Given the description of an element on the screen output the (x, y) to click on. 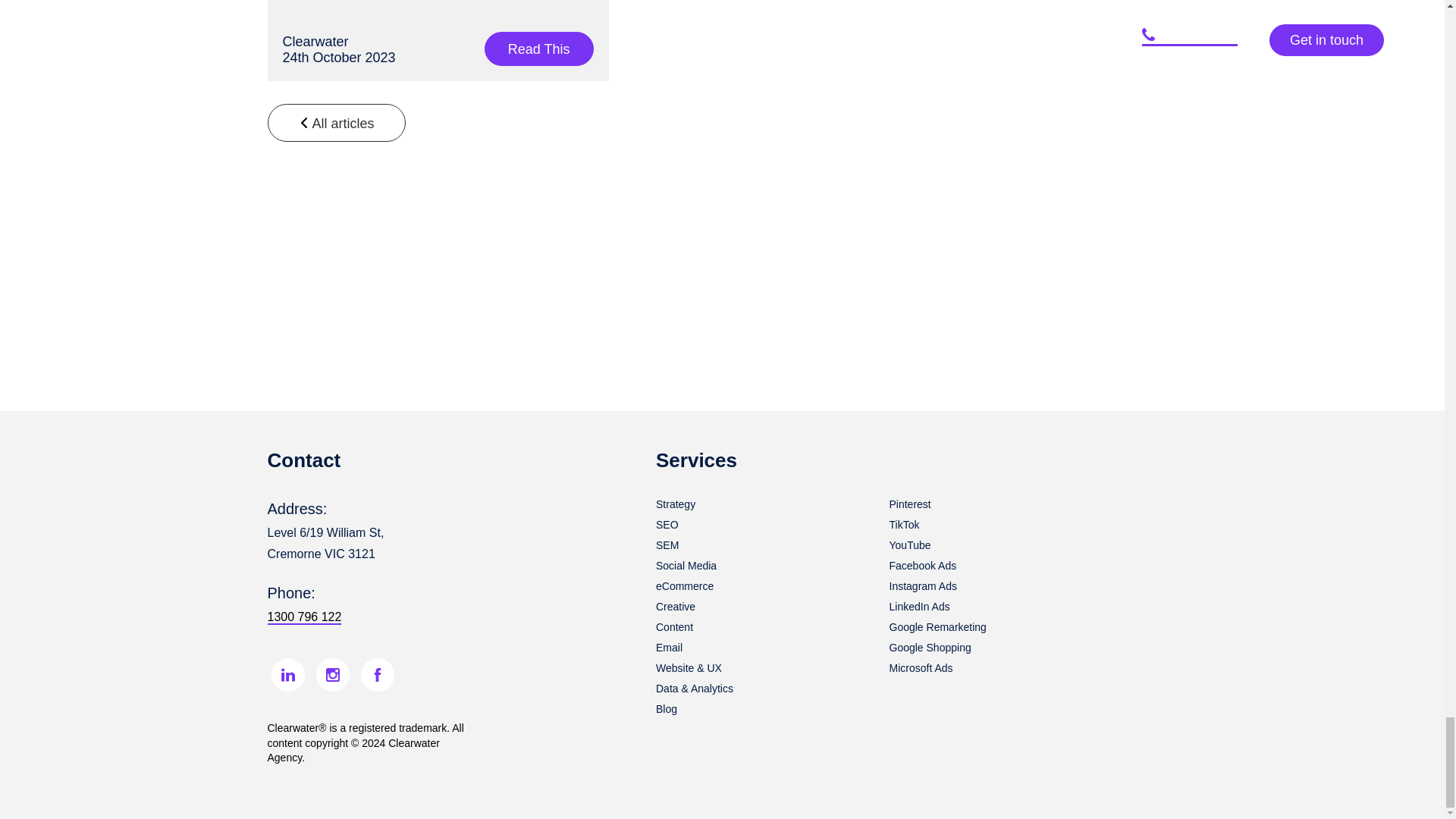
Email (669, 647)
Facebook Ads (922, 565)
Creative (675, 606)
TikTok (903, 524)
Social Media (686, 565)
Pinterest (909, 503)
Read This (539, 48)
Strategy (675, 503)
1300 796 122 (303, 617)
eCommerce (684, 585)
All articles (335, 122)
Blog (666, 708)
YouTube (909, 544)
Content (674, 626)
SEO (667, 524)
